Given the description of an element on the screen output the (x, y) to click on. 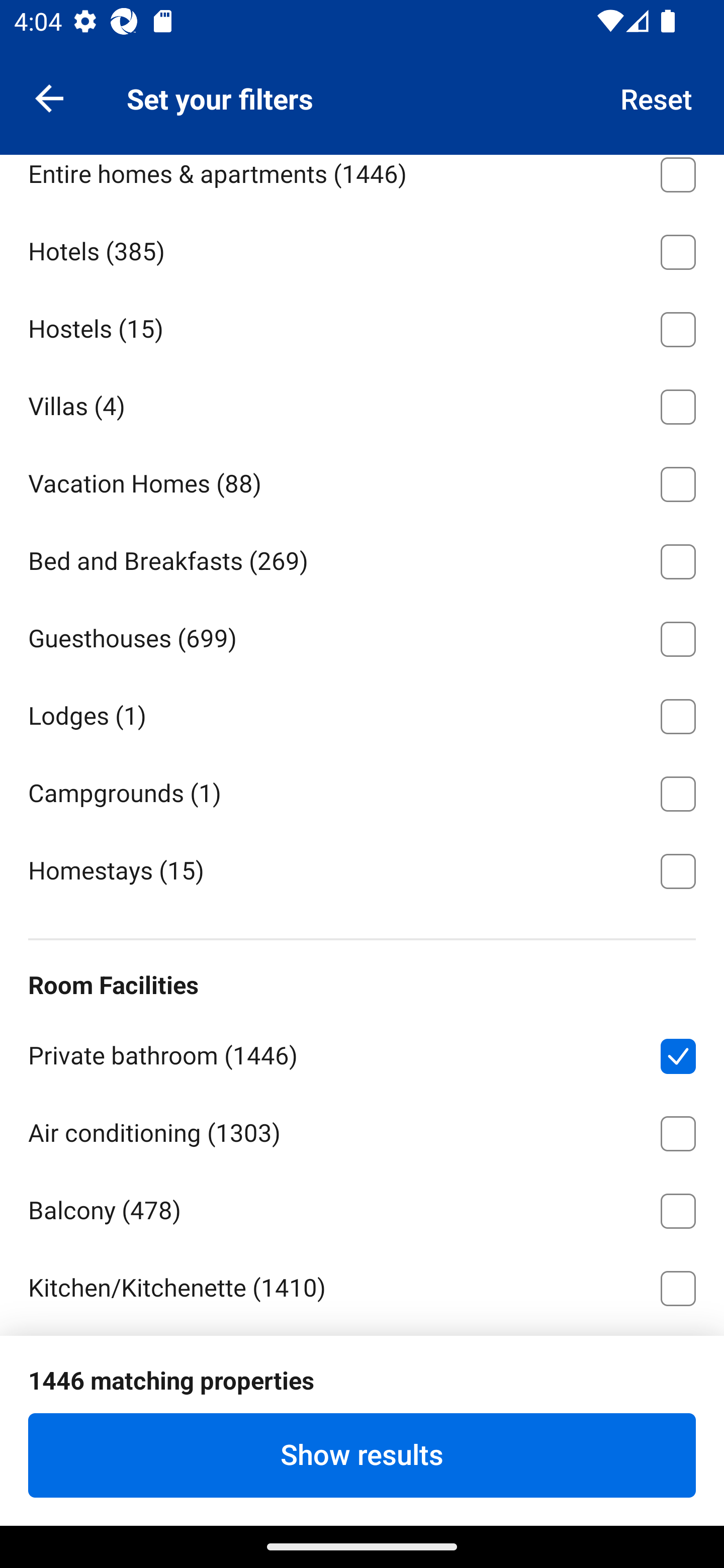
Navigate up (49, 97)
Apartments ⁦(1443) (361, 93)
Reset (656, 97)
Entire homes & apartments ⁦(1446) (361, 182)
Hotels ⁦(385) (361, 248)
Hostels ⁦(15) (361, 325)
Villas ⁦(4) (361, 403)
Vacation Homes ⁦(88) (361, 480)
Bed and Breakfasts ⁦(269) (361, 558)
Guesthouses ⁦(699) (361, 635)
Lodges ⁦(1) (361, 712)
Campgrounds ⁦(1) (361, 790)
Homestays ⁦(15) (361, 869)
Private bathroom ⁦(1446) (361, 1052)
Air conditioning ⁦(1303) (361, 1130)
Balcony ⁦(478) (361, 1207)
Kitchen/Kitchenette ⁦(1410) (361, 1284)
Show results (361, 1454)
